Given the description of an element on the screen output the (x, y) to click on. 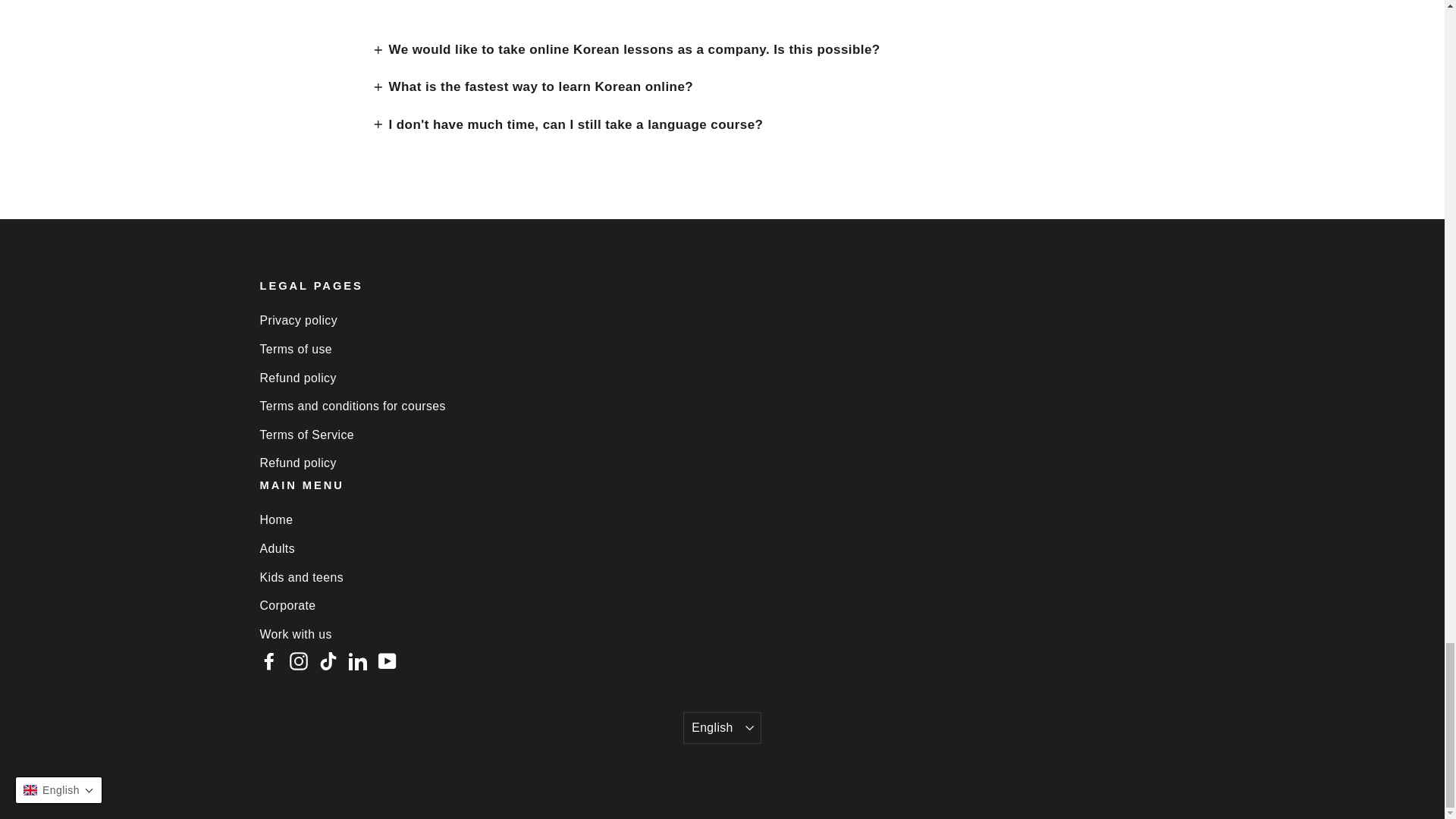
Berlitz Thailand on Instagram (298, 660)
Berlitz Thailand on TikTok (327, 660)
Berlitz Thailand on LinkedIn (357, 660)
